Given the description of an element on the screen output the (x, y) to click on. 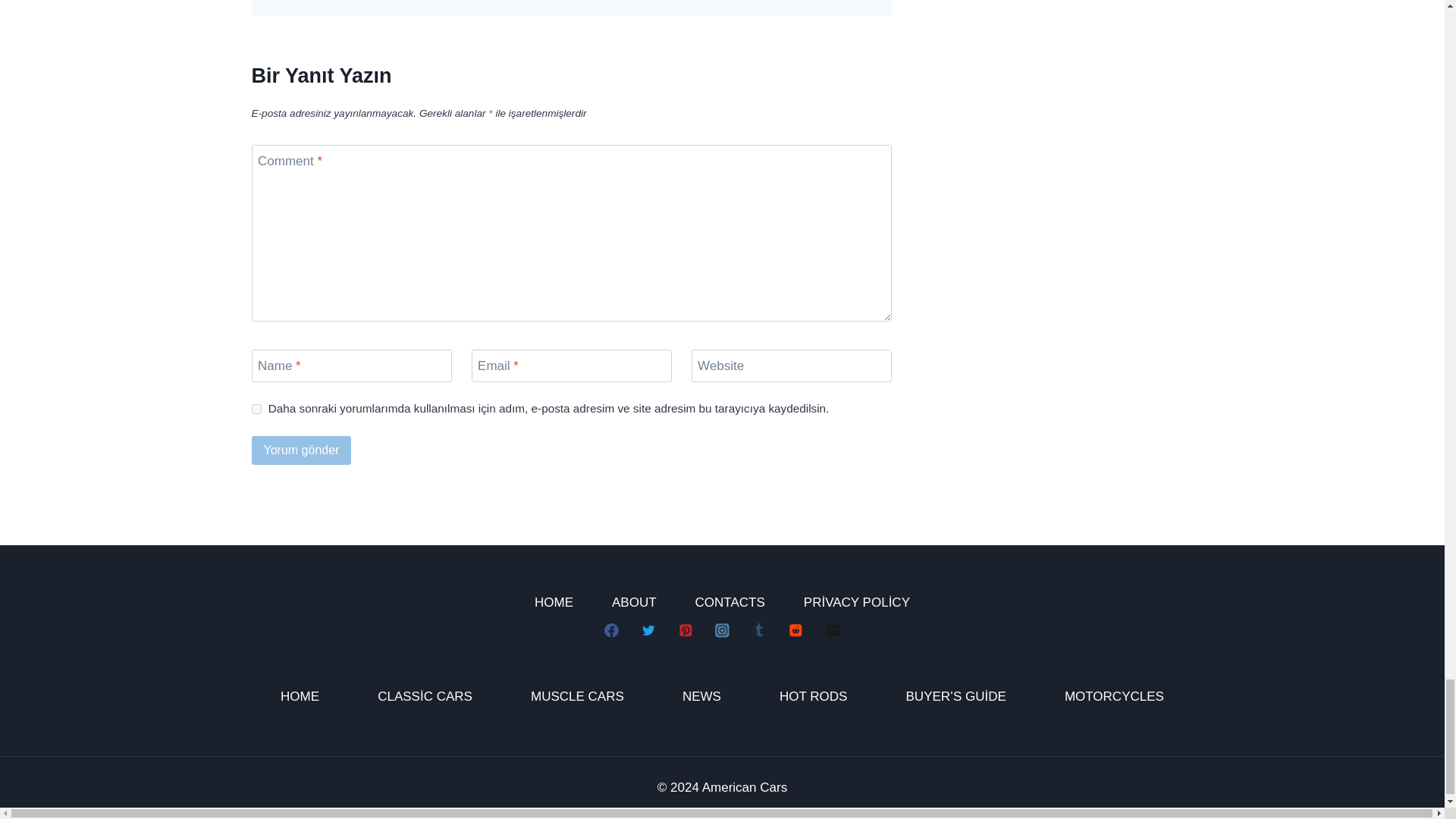
yes (256, 409)
